Given the description of an element on the screen output the (x, y) to click on. 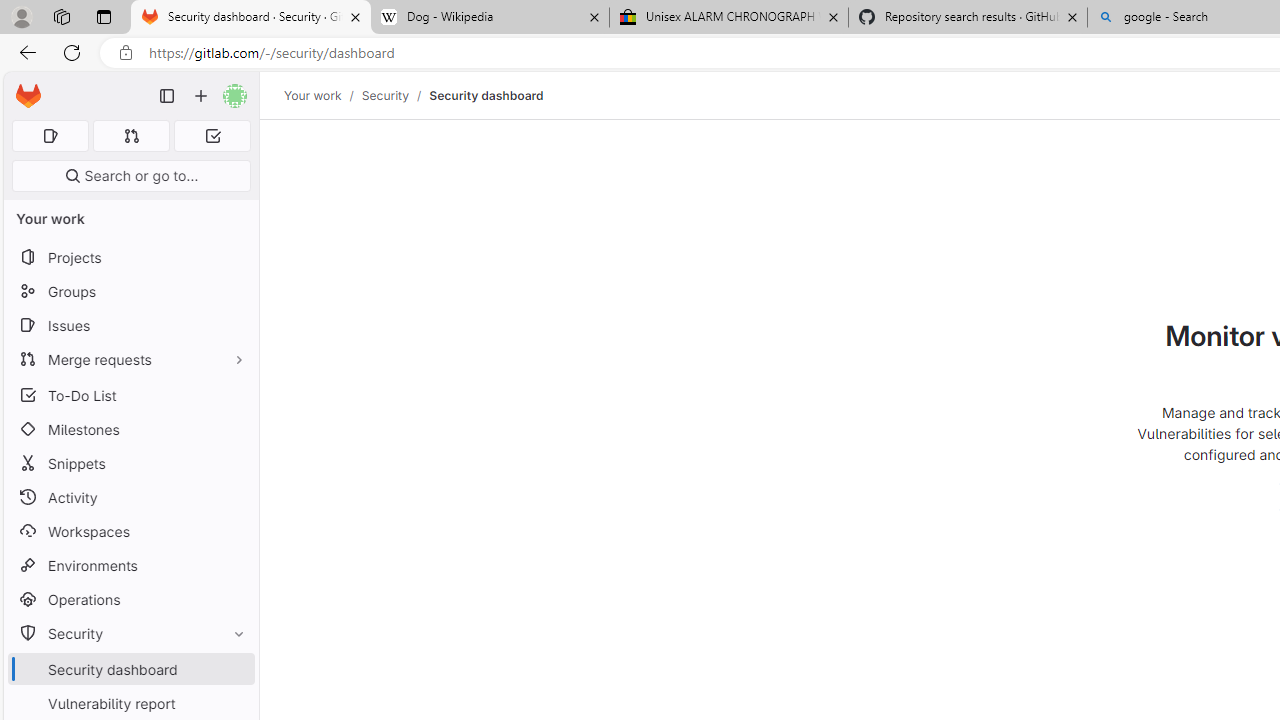
Groups (130, 291)
Operations (130, 599)
Security (384, 95)
Security/ (395, 95)
Create new... (201, 96)
Environments (130, 564)
Vulnerability report (130, 703)
Issues (130, 325)
Skip to main content (23, 87)
Assigned issues 0 (50, 136)
Personal Profile (21, 16)
Workspaces (61, 16)
